Given the description of an element on the screen output the (x, y) to click on. 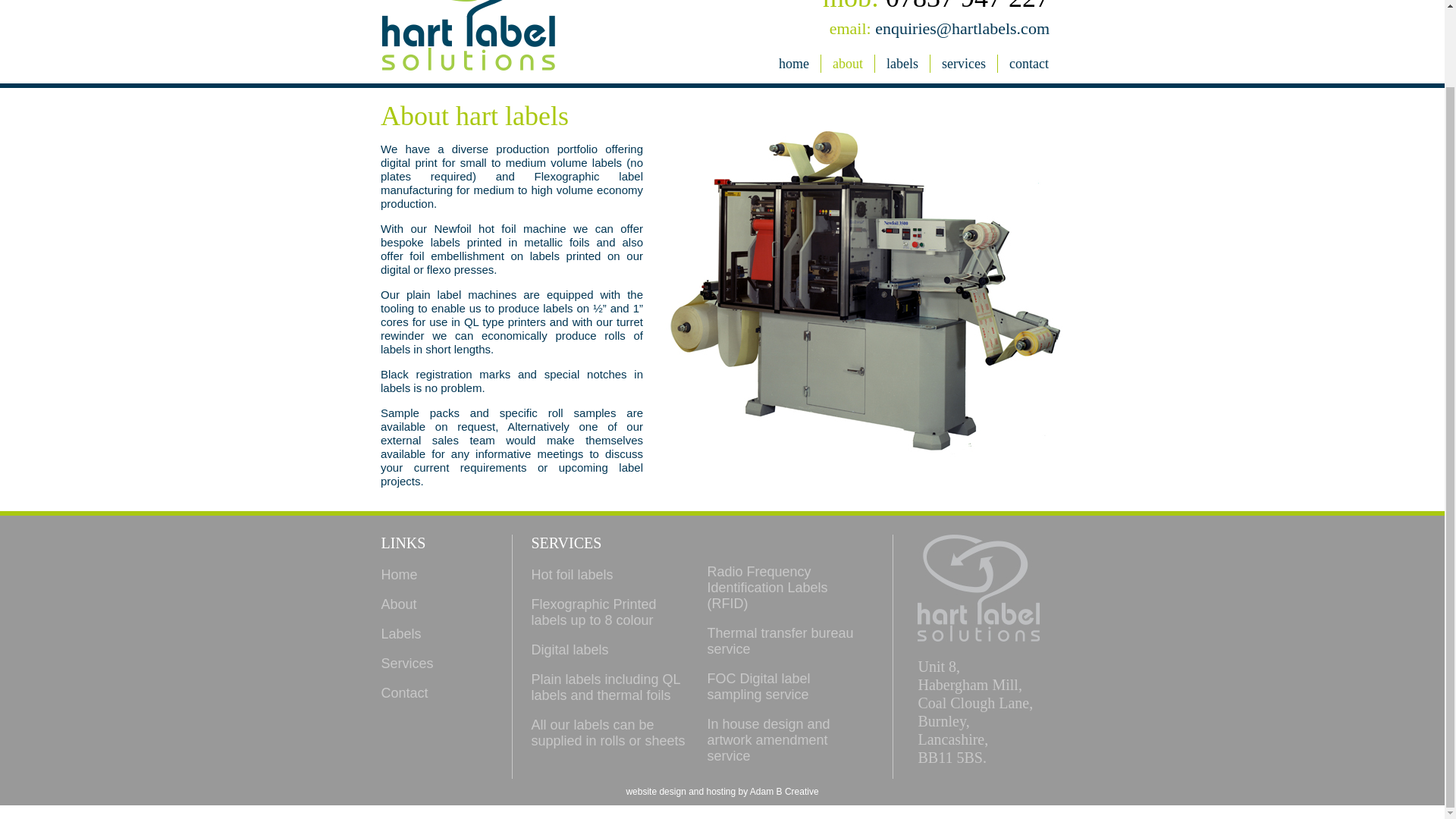
labels (902, 63)
services (963, 63)
website design and hosting by Adam B Creative (722, 791)
Home (398, 574)
Labels (400, 633)
Services (406, 663)
Contact (404, 693)
About (398, 604)
about (848, 63)
contact (1028, 63)
